Given the description of an element on the screen output the (x, y) to click on. 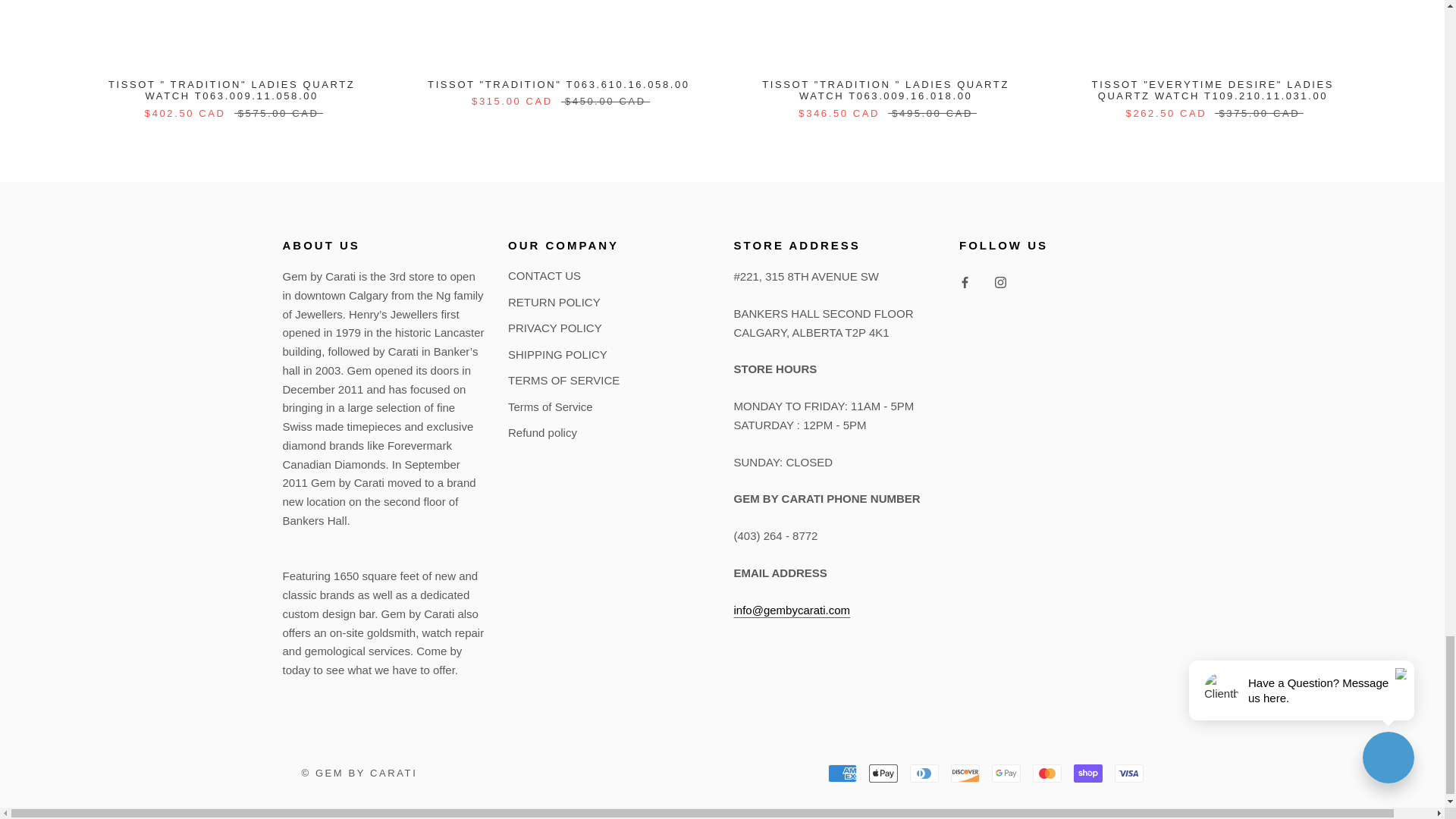
Google Pay (1005, 773)
Visa (1128, 773)
Mastercard (1046, 773)
Diners Club (924, 773)
Apple Pay (883, 773)
Shop Pay (1088, 773)
Discover (964, 773)
American Express (842, 773)
